Given the description of an element on the screen output the (x, y) to click on. 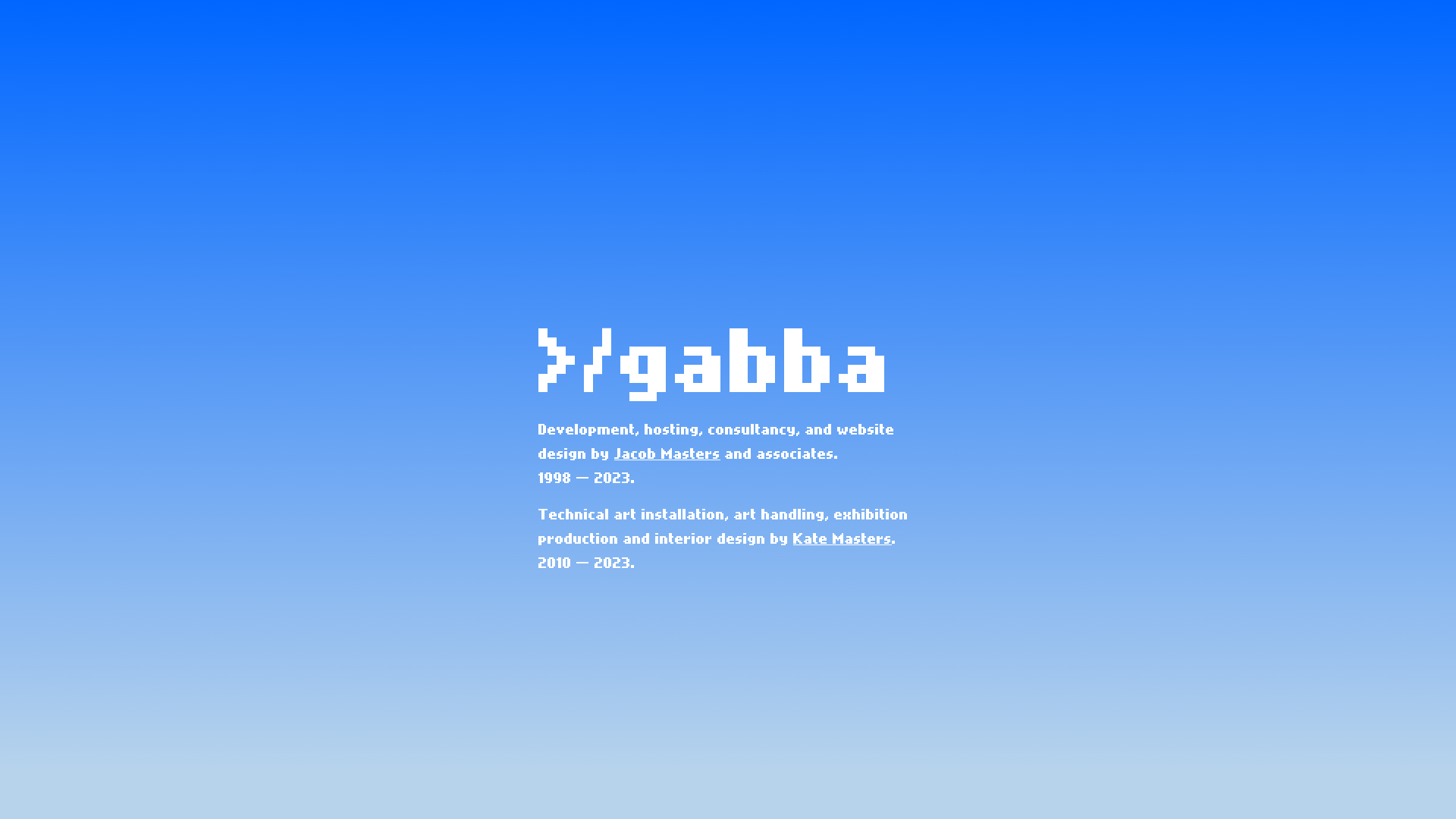
Jacob Masters Element type: text (667, 454)
Kate Masters Element type: text (842, 539)
